Given the description of an element on the screen output the (x, y) to click on. 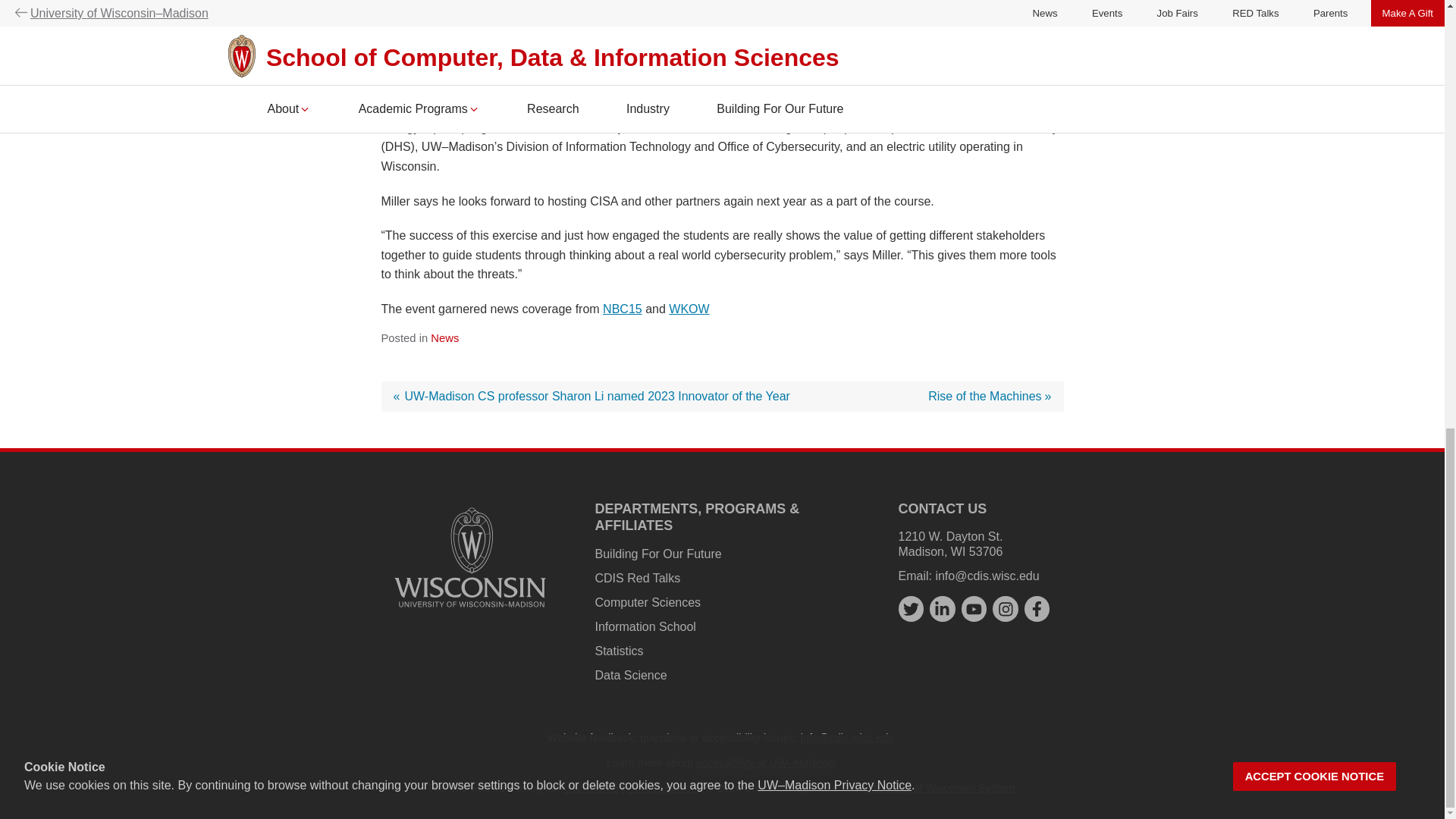
instagram (1005, 609)
linkedin (941, 609)
NBC15 (622, 308)
News (444, 337)
University logo that links to main university website (470, 557)
youtube (973, 609)
facebook (1037, 609)
twitter (989, 395)
